Given the description of an element on the screen output the (x, y) to click on. 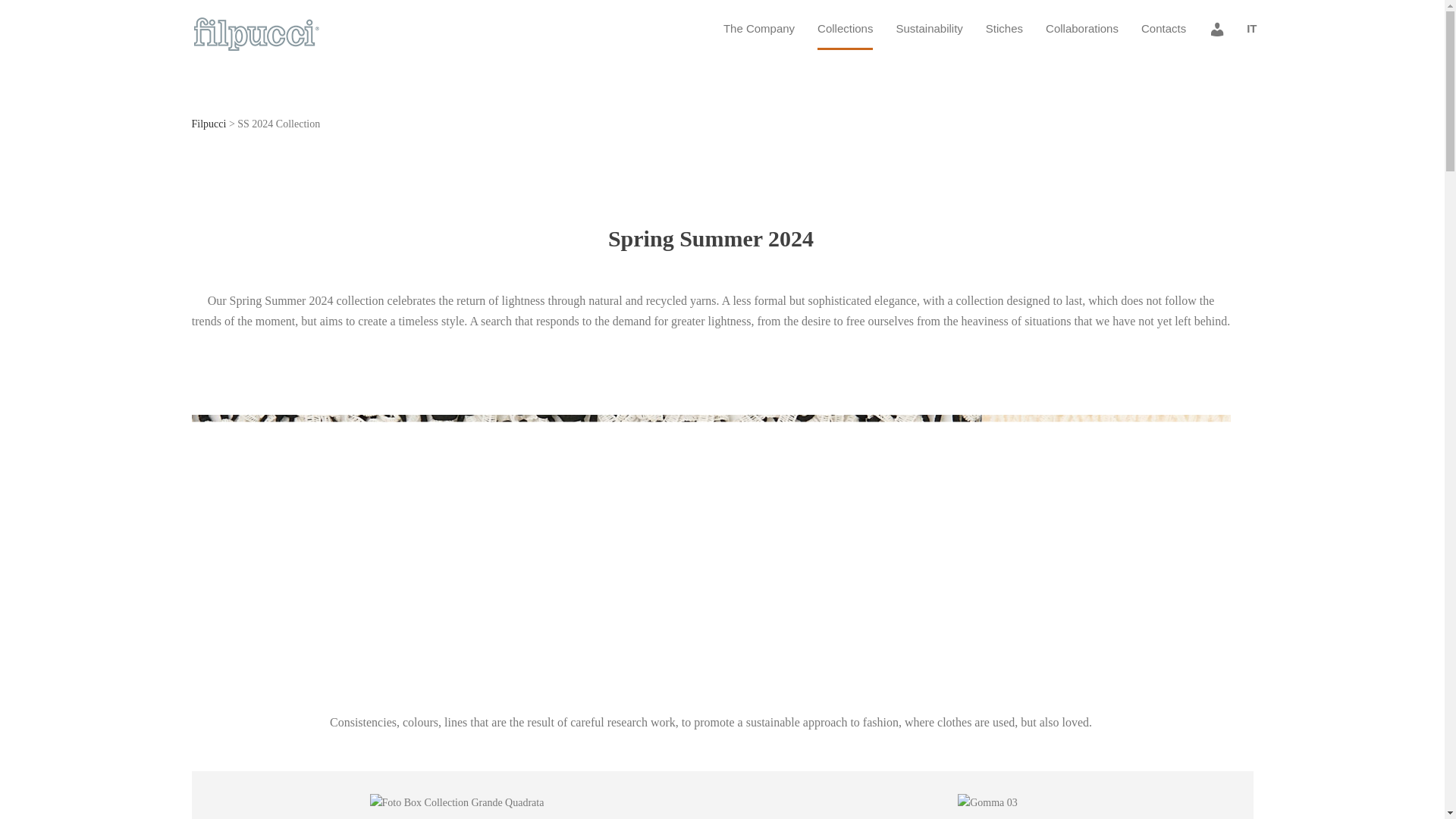
Collections (844, 34)
IT (1251, 34)
Collaborations (1081, 34)
The Company (758, 34)
Sustainability (928, 34)
The Company (758, 34)
Collaborations (1081, 34)
Vai a Filpucci. (207, 123)
Collections (844, 34)
Contacts (1162, 34)
